Given the description of an element on the screen output the (x, y) to click on. 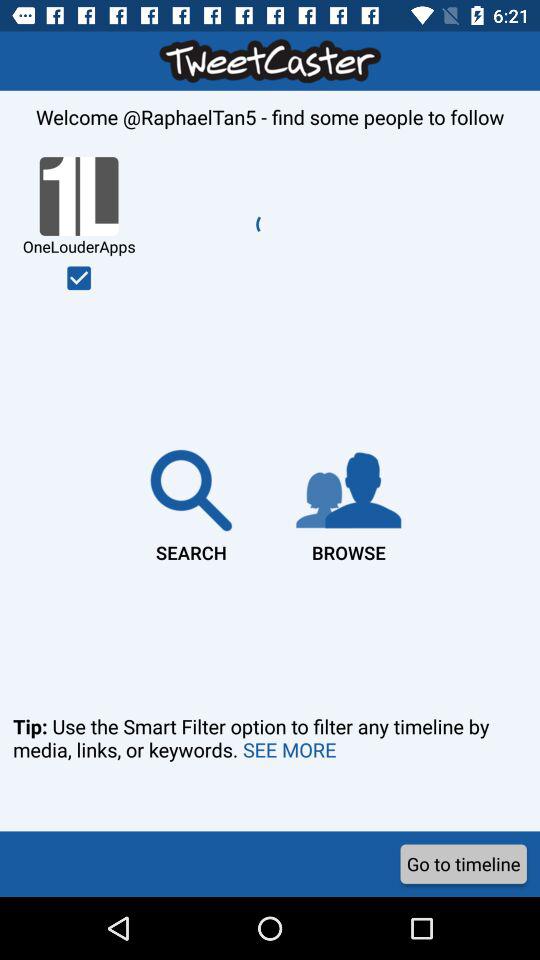
open the item below the onelouderapps icon (191, 502)
